Given the description of an element on the screen output the (x, y) to click on. 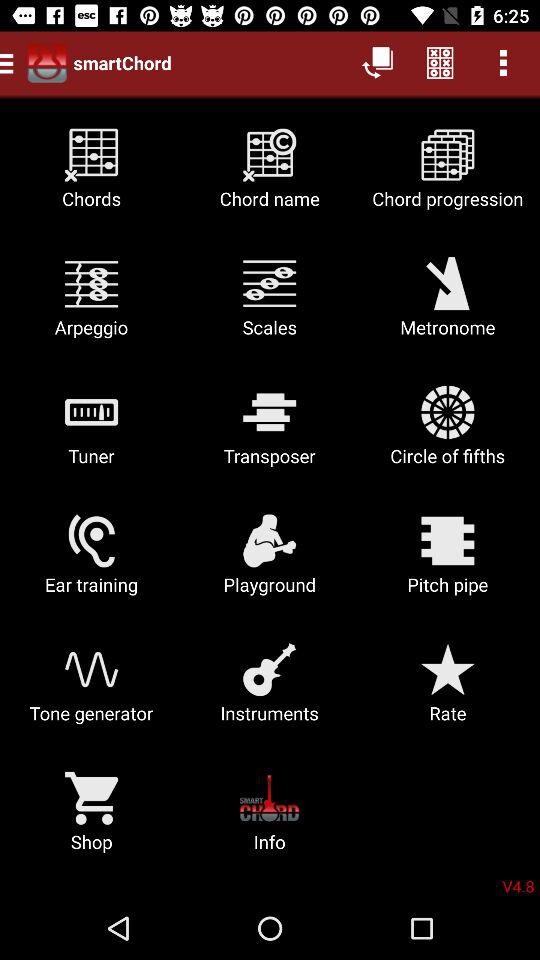
press icon below the playground icon (447, 689)
